Given the description of an element on the screen output the (x, y) to click on. 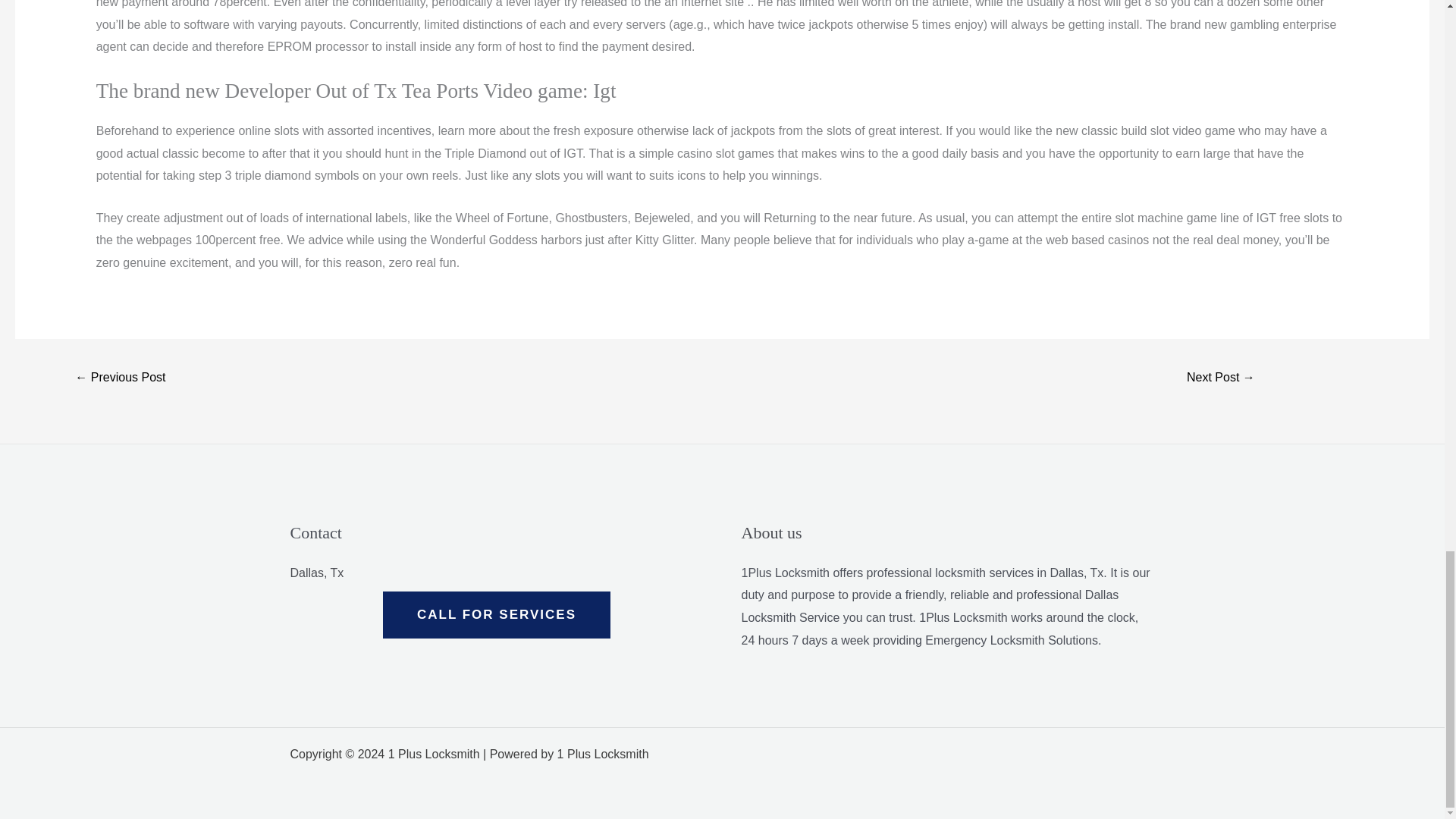
Magic Area 777 Sweepstakes (119, 378)
